Given the description of an element on the screen output the (x, y) to click on. 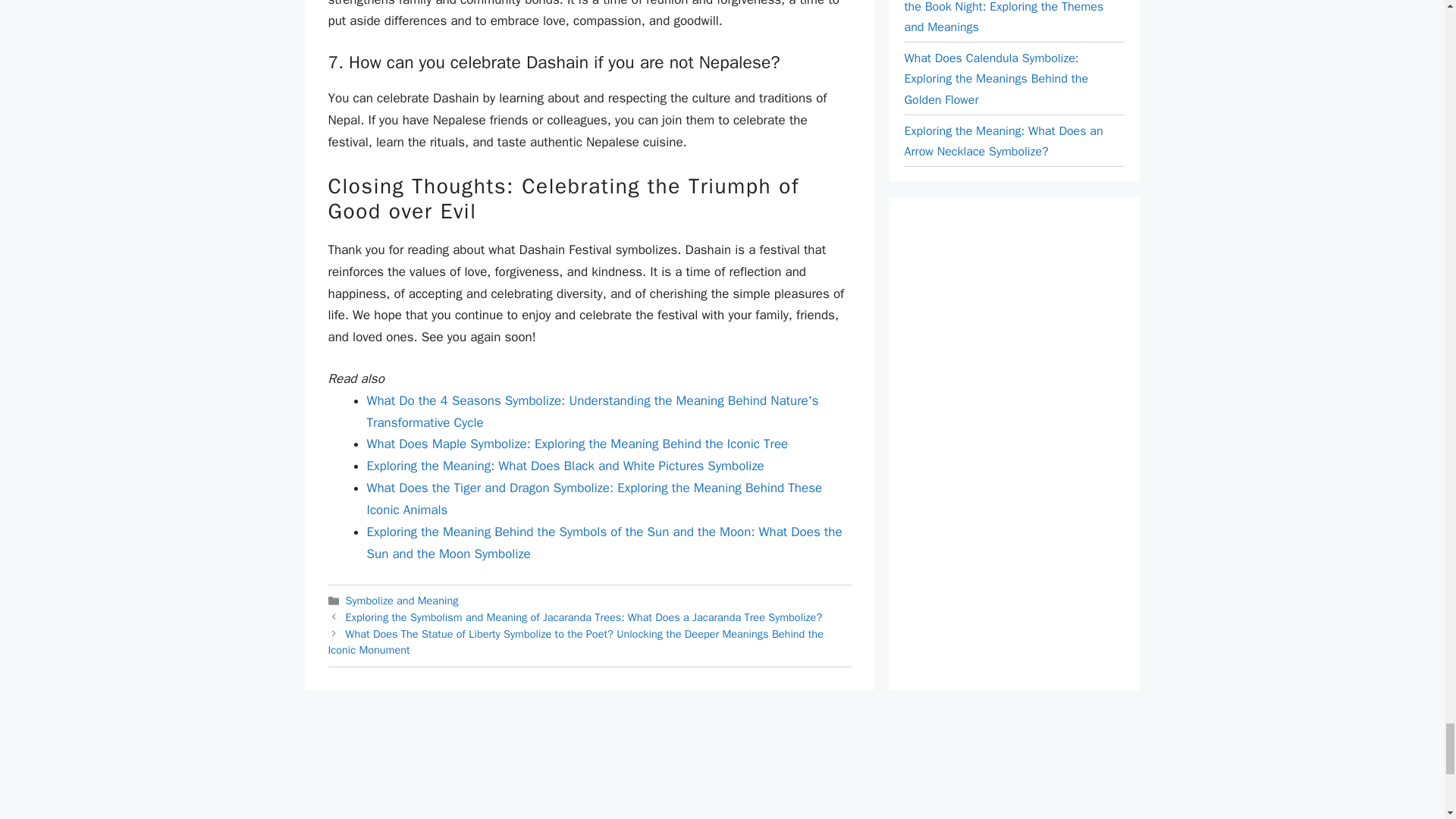
Symbolize and Meaning (402, 600)
